Given the description of an element on the screen output the (x, y) to click on. 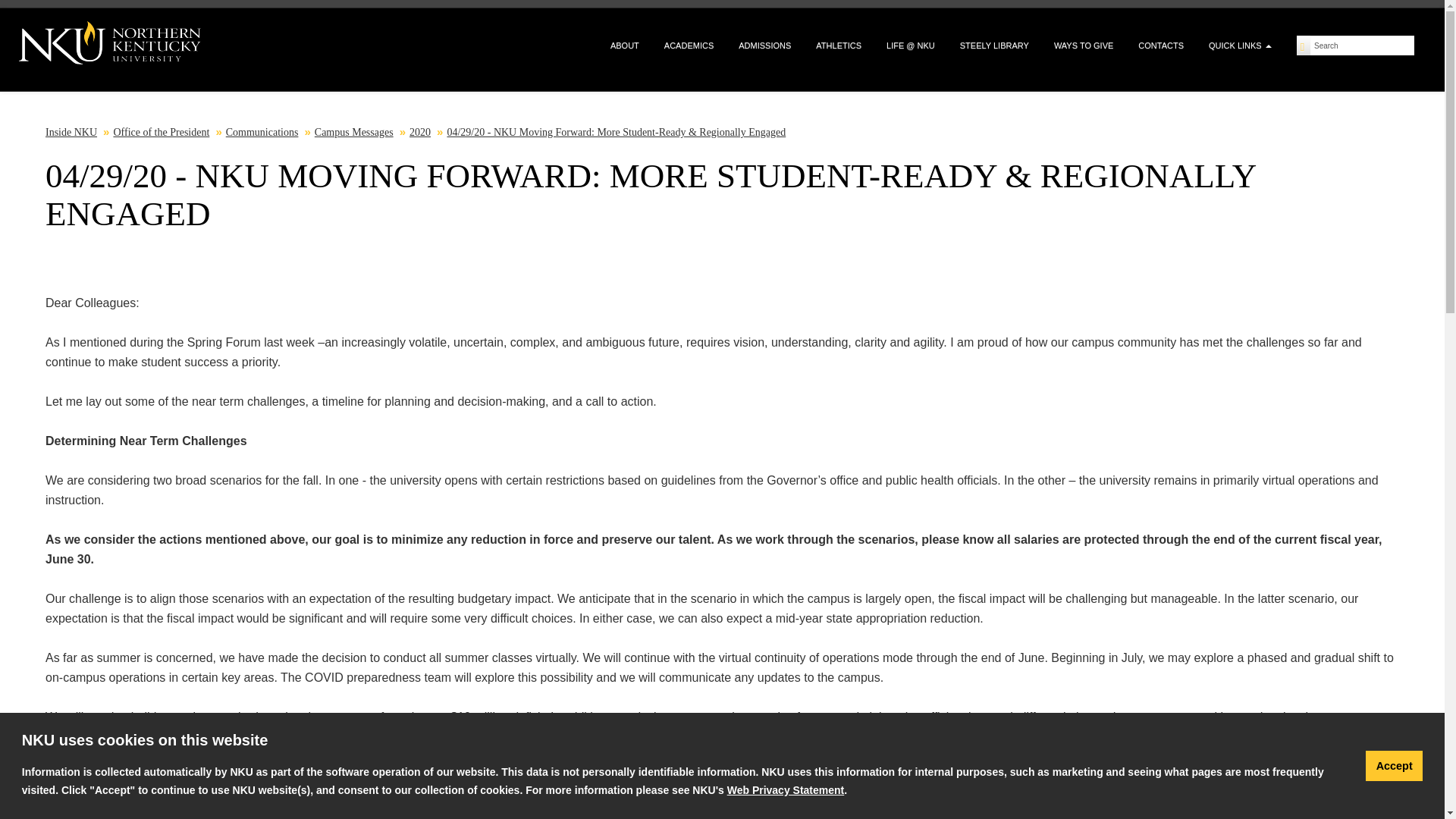
STEELY LIBRARY (994, 45)
Search (1361, 45)
2020 (419, 132)
Inside NKU (71, 132)
ADMISSIONS (765, 45)
ACADEMICS (688, 45)
Web Privacy Statement (785, 789)
ATHLETICS (838, 45)
WAYS TO GIVE (1082, 45)
Communications (261, 132)
